Given the description of an element on the screen output the (x, y) to click on. 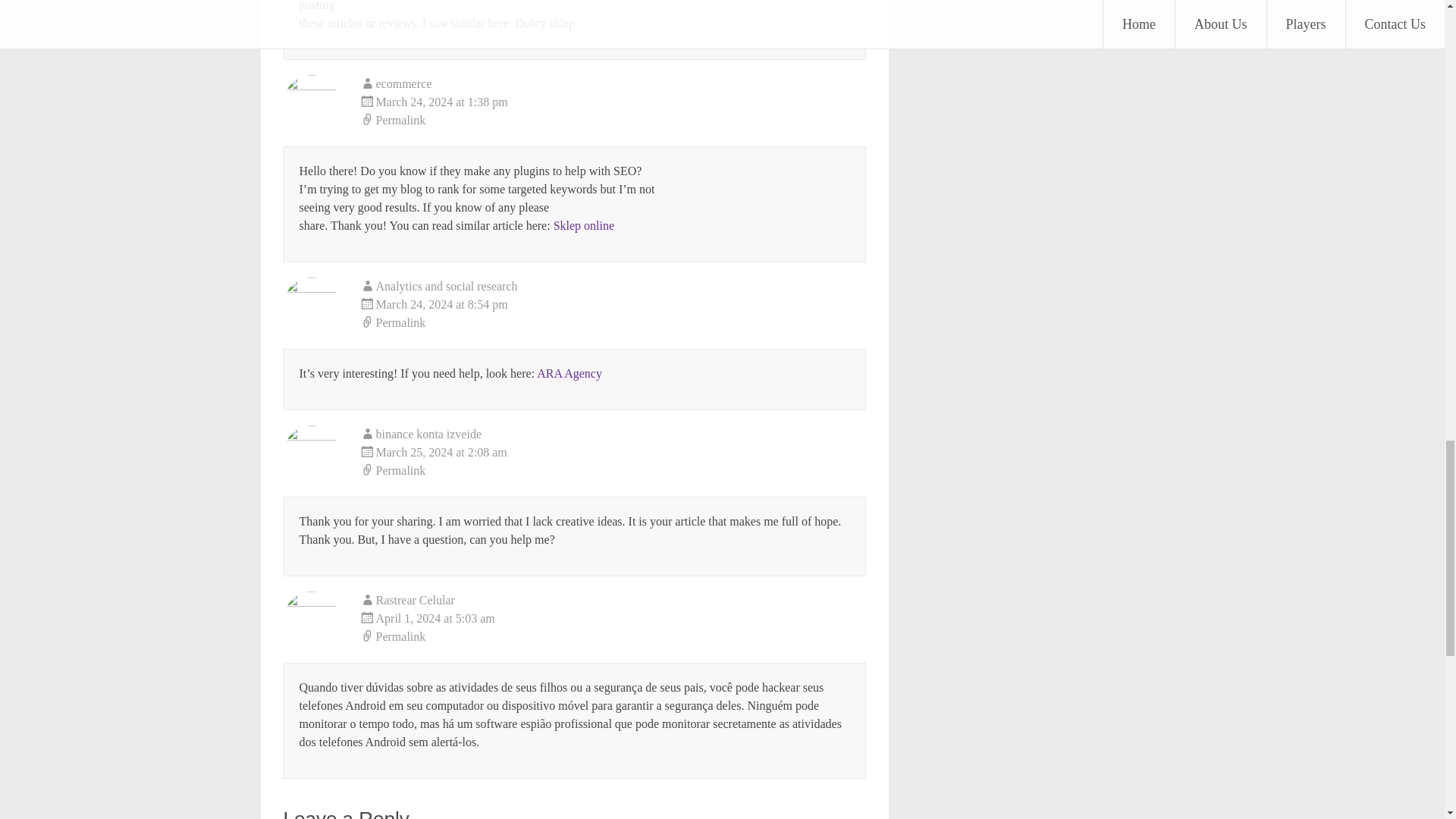
Dobry sklep (545, 22)
Sklep online (583, 225)
Permalink (612, 120)
ecommerce (403, 83)
Analytics and social research (446, 286)
